Given the description of an element on the screen output the (x, y) to click on. 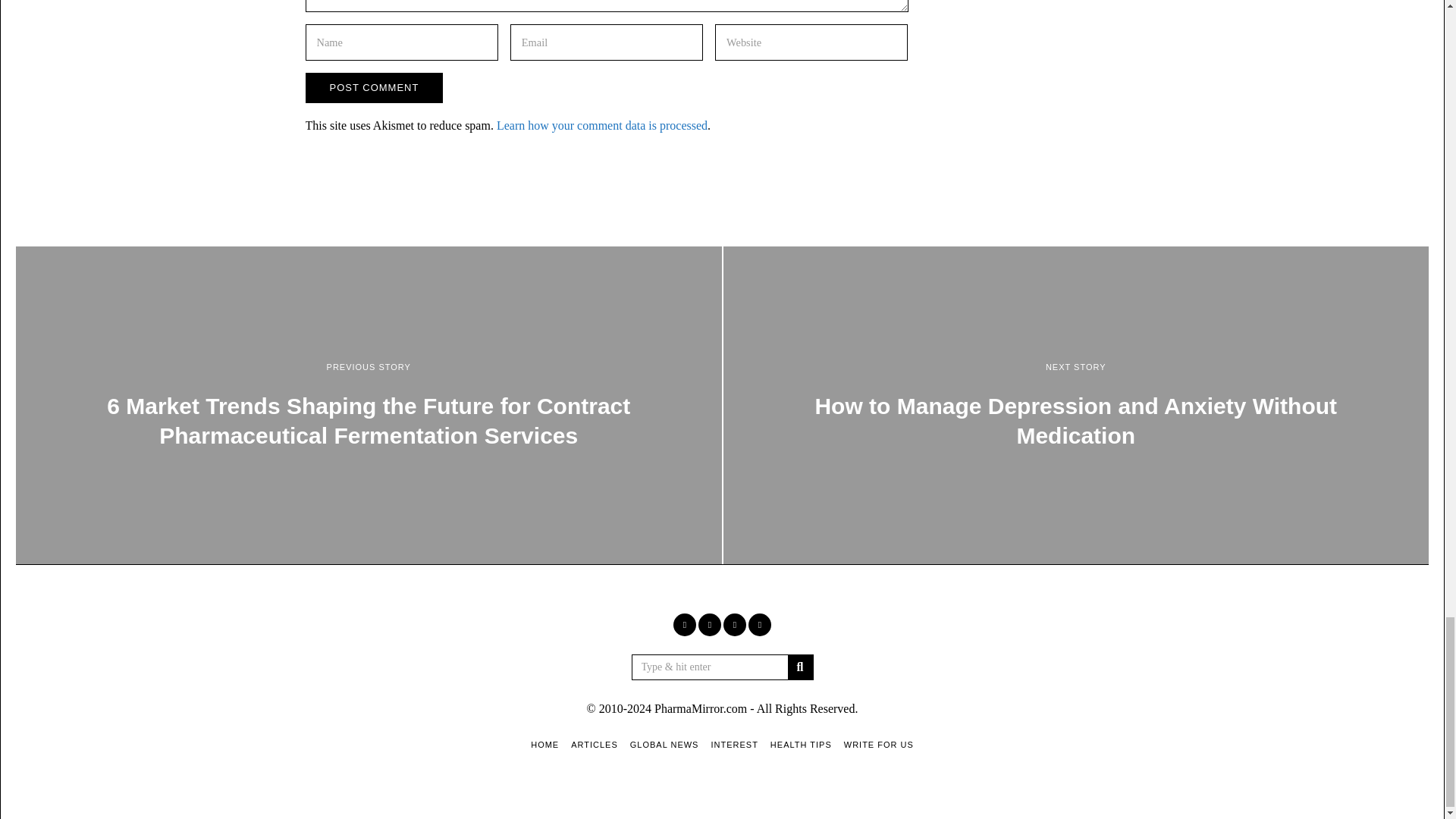
Post Comment (373, 87)
Post Comment (373, 87)
Learn how your comment data is processed (601, 124)
Facebook (683, 624)
LinkedIn (734, 624)
Go (799, 667)
Email (759, 624)
Twitter (709, 624)
